Given the description of an element on the screen output the (x, y) to click on. 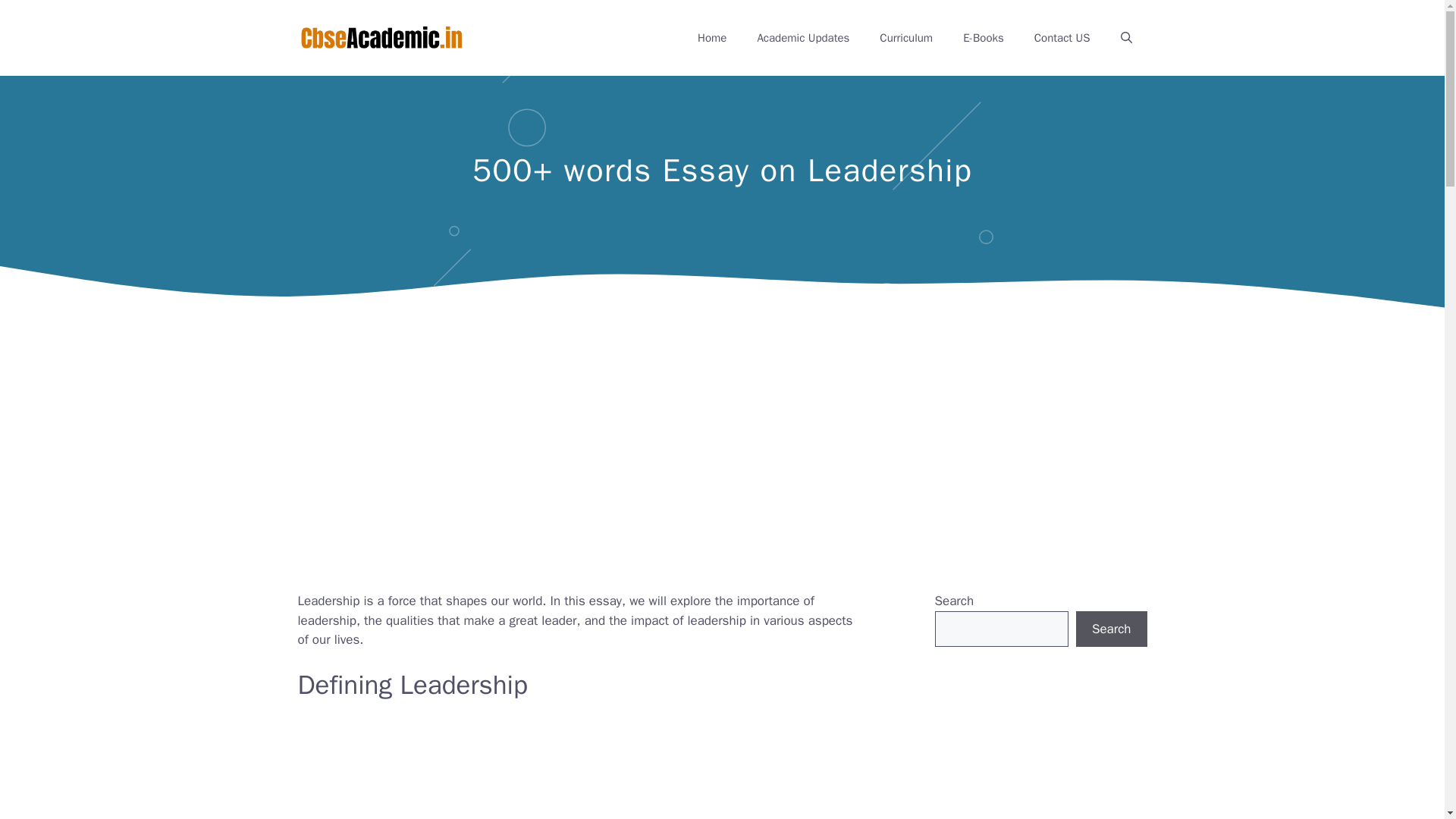
E-Books (983, 37)
Search (1111, 628)
Advertisement (1088, 789)
Contact US (1062, 37)
Home (711, 37)
Advertisement (630, 767)
Curriculum (905, 37)
Academic Updates (802, 37)
